Given the description of an element on the screen output the (x, y) to click on. 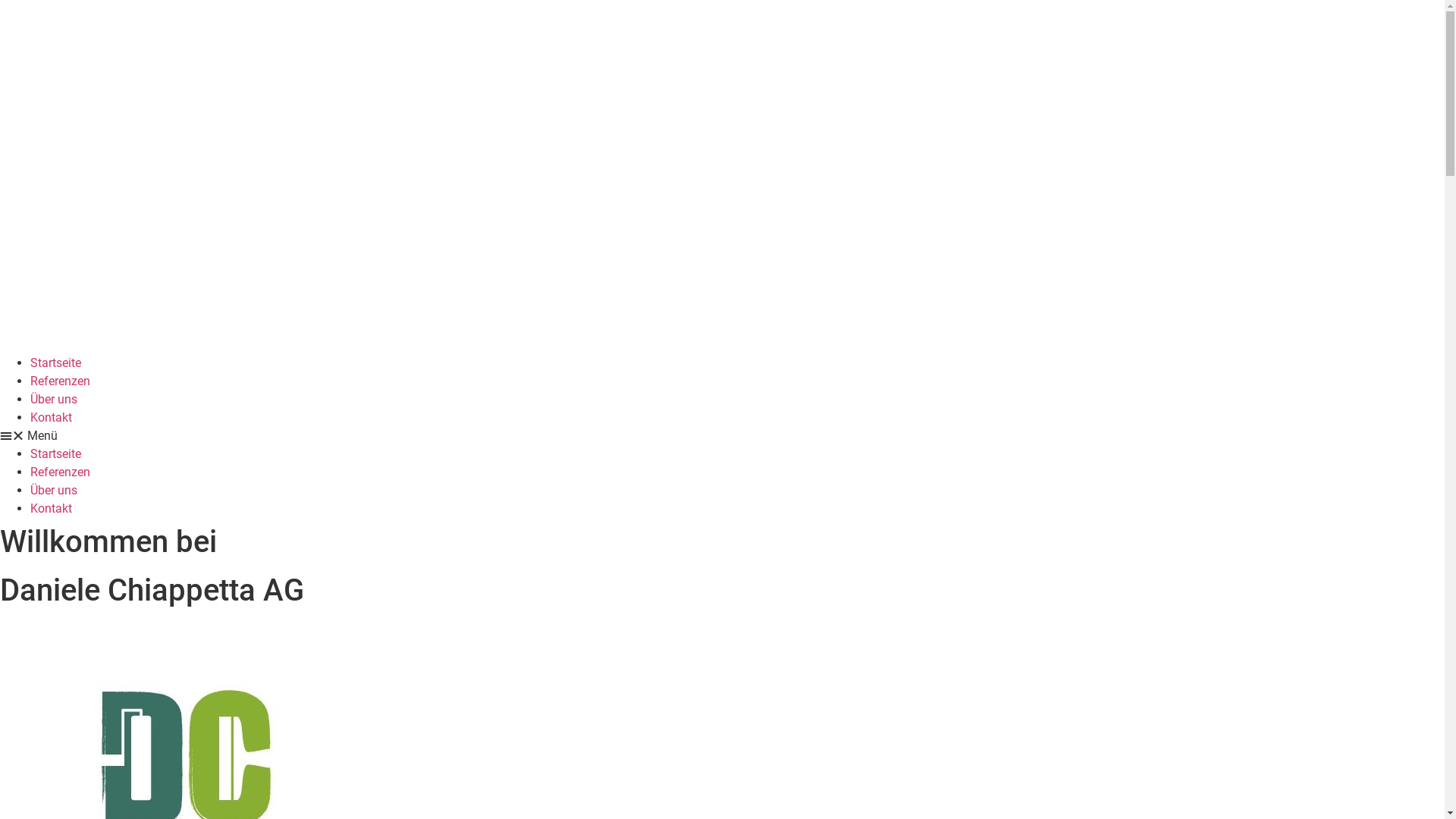
Kontakt Element type: text (51, 508)
Referenzen Element type: text (60, 471)
Kontakt Element type: text (51, 417)
Zum Inhalt wechseln Element type: text (0, 0)
Startseite Element type: text (55, 453)
Referenzen Element type: text (60, 380)
Startseite Element type: text (55, 362)
